Given the description of an element on the screen output the (x, y) to click on. 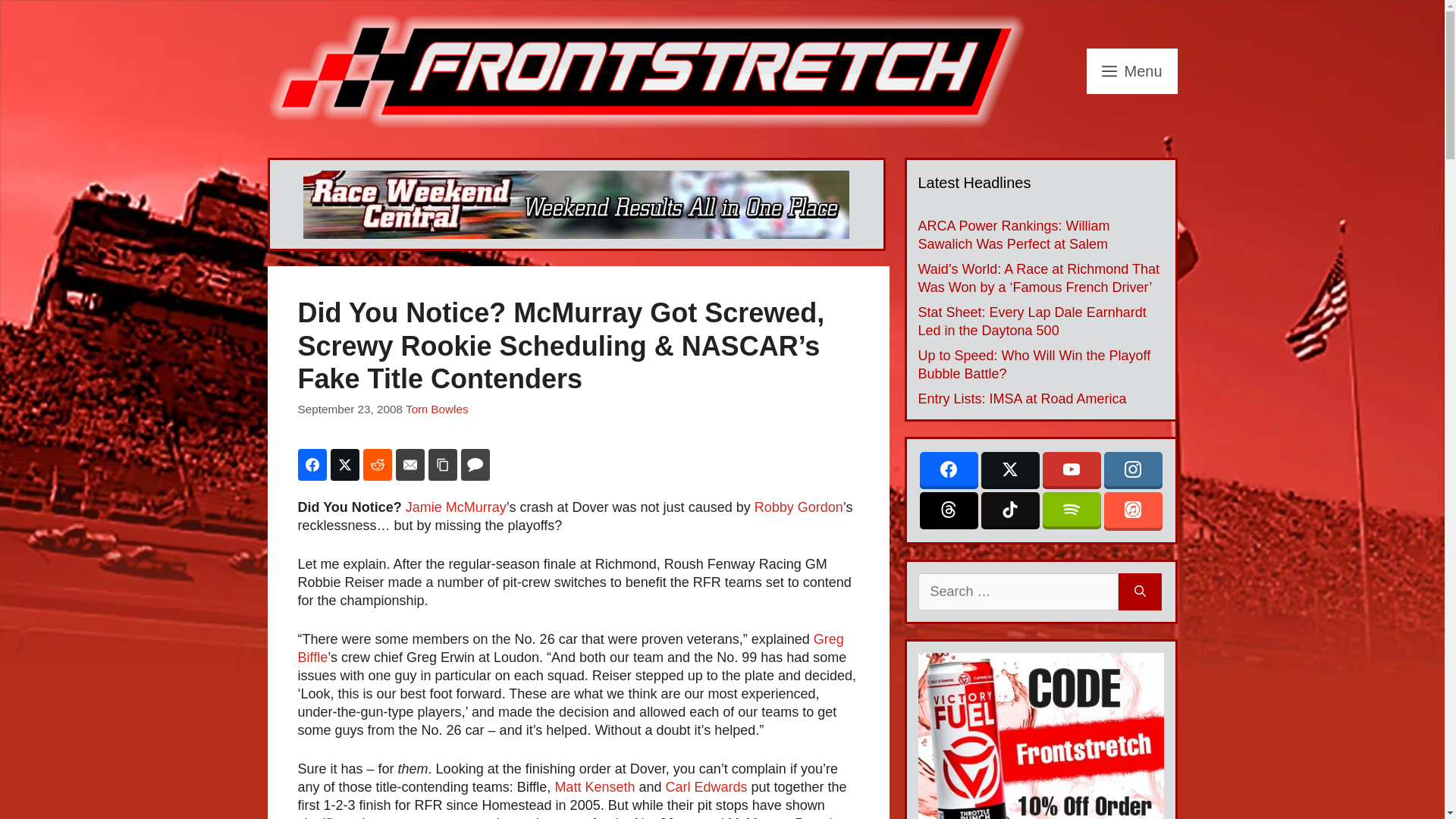
Menu (1131, 71)
Carl Edwards (705, 786)
Jamie McMurray (456, 507)
Share on Reddit (376, 464)
Search for: (1017, 591)
Share on Copy Link (442, 464)
Share on Comments (475, 464)
Matt Kenseth (594, 786)
Greg Biffle (570, 648)
Share on Email (410, 464)
Robby Gordon (798, 507)
Share on Facebook (311, 464)
Share on Twitter (344, 464)
Tom Bowles (436, 408)
